Given the description of an element on the screen output the (x, y) to click on. 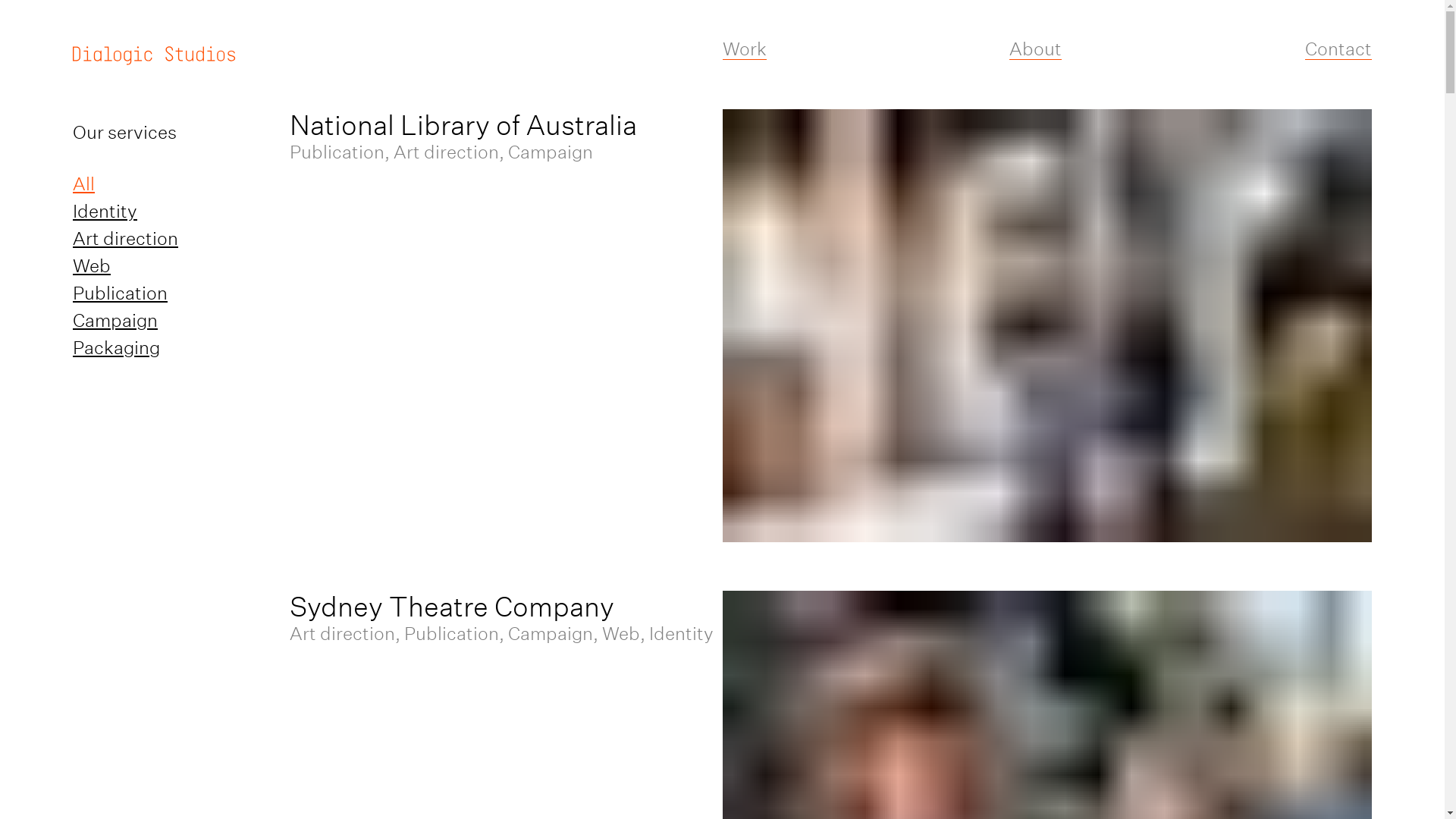
Publication Element type: text (119, 292)
Packaging Element type: text (116, 346)
Campaign Element type: text (114, 319)
About Element type: text (1035, 48)
All Element type: text (83, 183)
Art direction Element type: text (125, 237)
Work Element type: text (743, 48)
Identity Element type: text (104, 210)
Web Element type: text (91, 265)
Contact Element type: text (1338, 48)
